Given the description of an element on the screen output the (x, y) to click on. 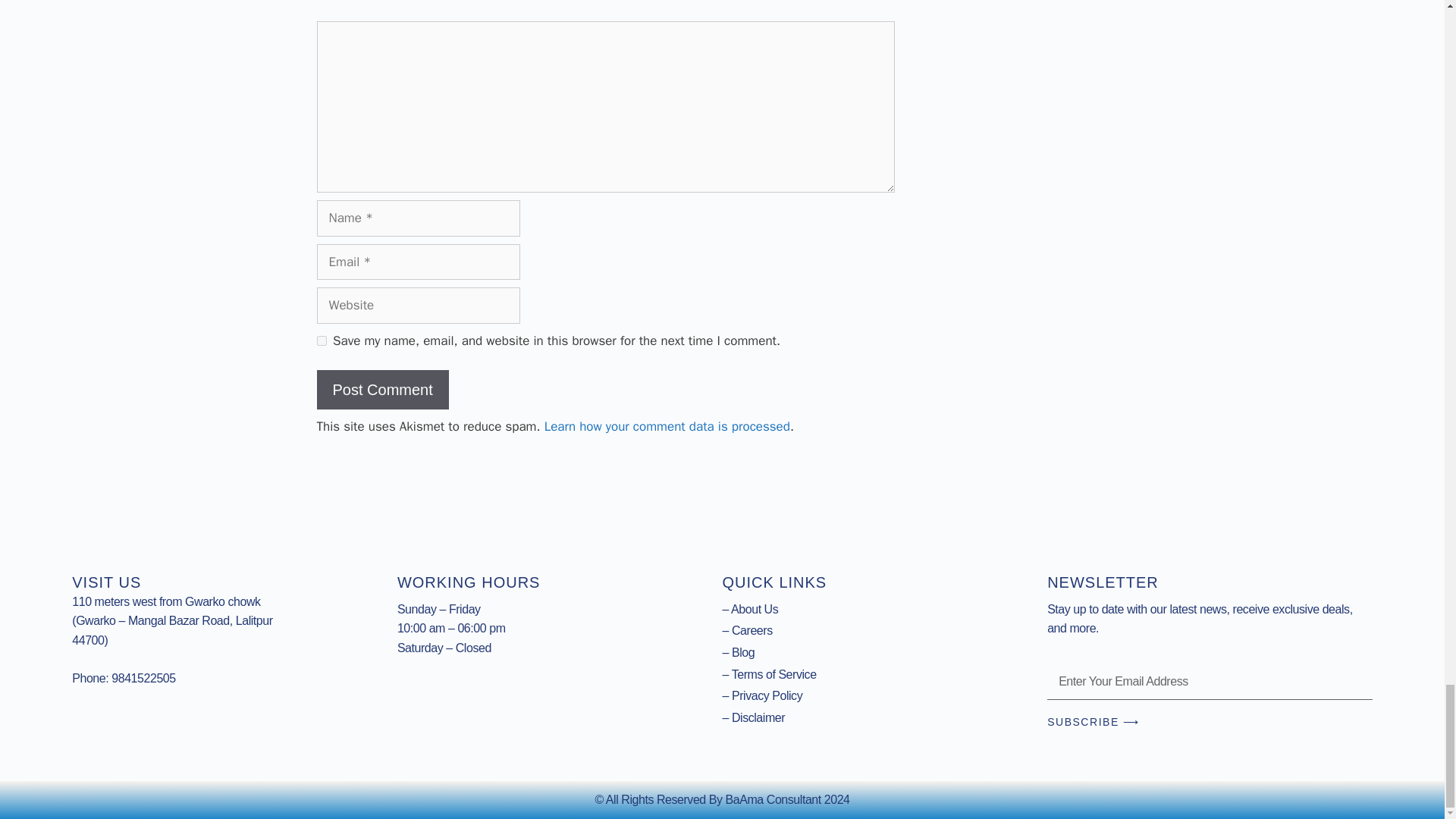
Post Comment (382, 389)
Learn how your comment data is processed (667, 426)
Post Comment (382, 389)
yes (321, 340)
